Given the description of an element on the screen output the (x, y) to click on. 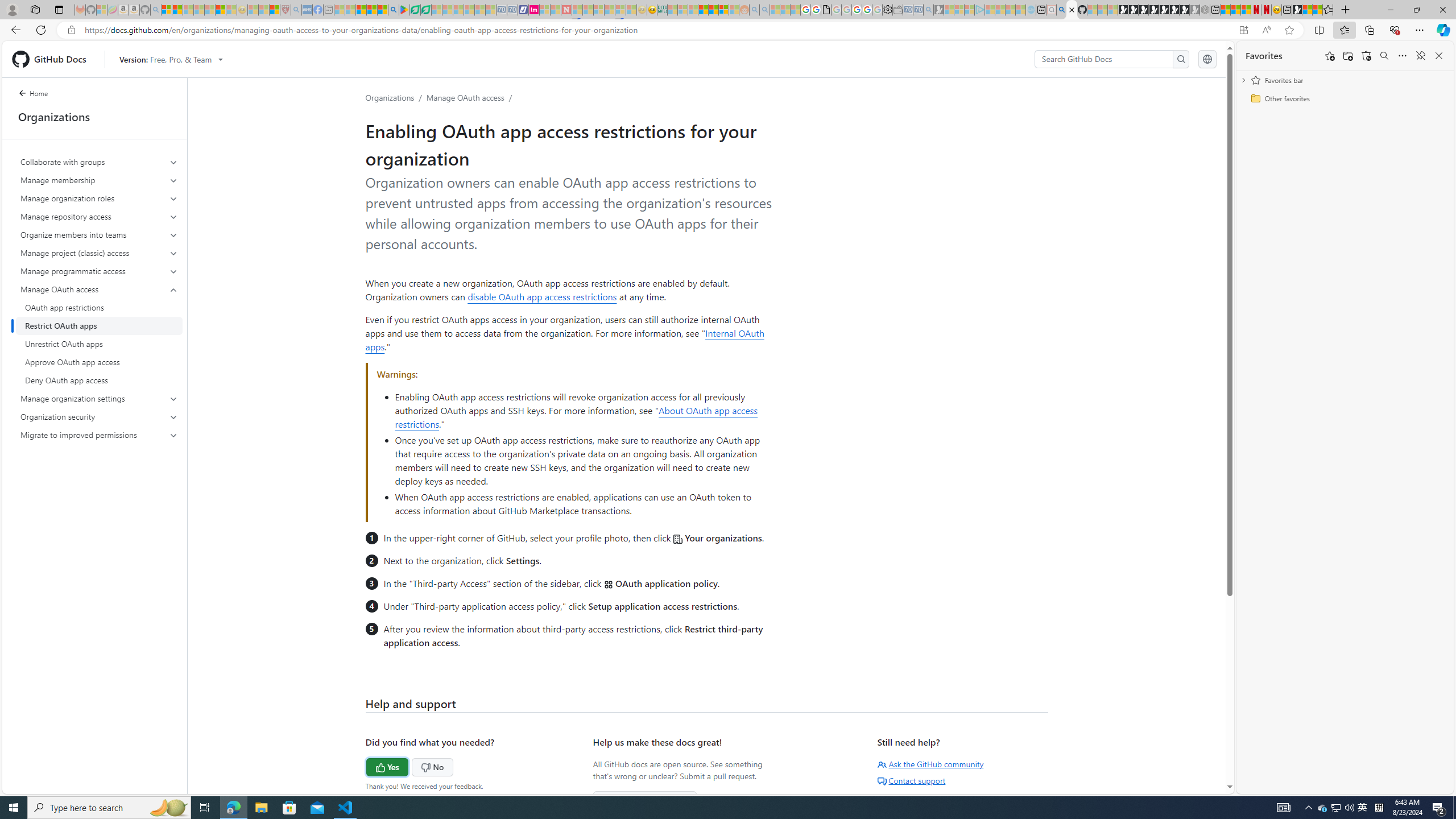
MSN (1297, 9)
Organizations/ (395, 97)
Microsoft account | Privacy (165, 9)
Microsoft account | Privacy - Sleeping (969, 9)
Back (13, 29)
disable OAuth app access restrictions (542, 296)
New Tab (1346, 9)
Bluey: Let's Play! - Apps on Google Play (404, 9)
